Given the description of an element on the screen output the (x, y) to click on. 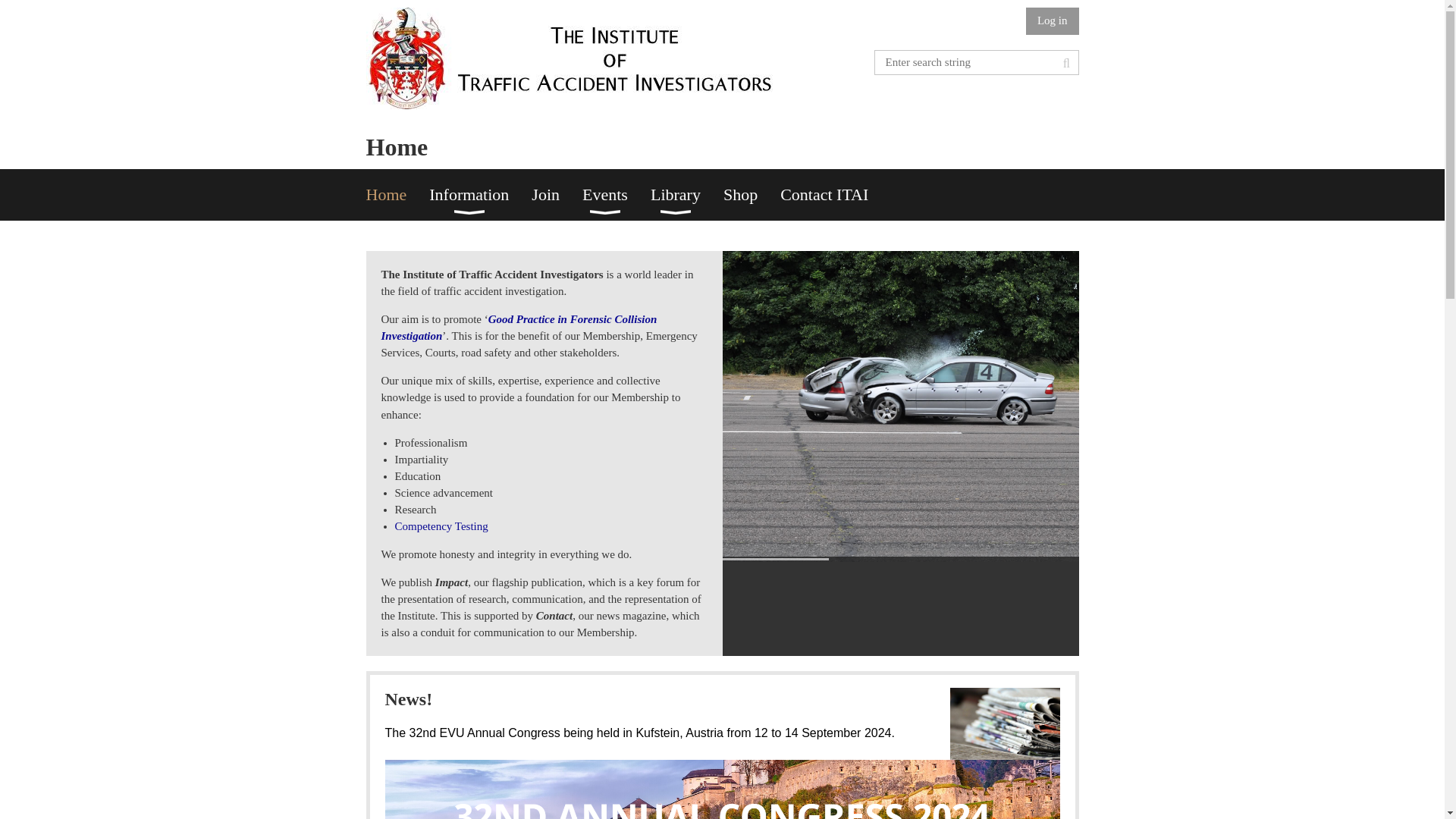
Events (616, 194)
Join (556, 194)
Home (397, 194)
Information (480, 194)
Join (556, 194)
Events (616, 194)
Information (480, 194)
Competency Testing (440, 526)
Contact ITAI (835, 194)
Good Practice in Forensic Collision Investigation (518, 327)
Library (686, 194)
Home (397, 194)
Log in (1052, 21)
Shop (751, 194)
